Given the description of an element on the screen output the (x, y) to click on. 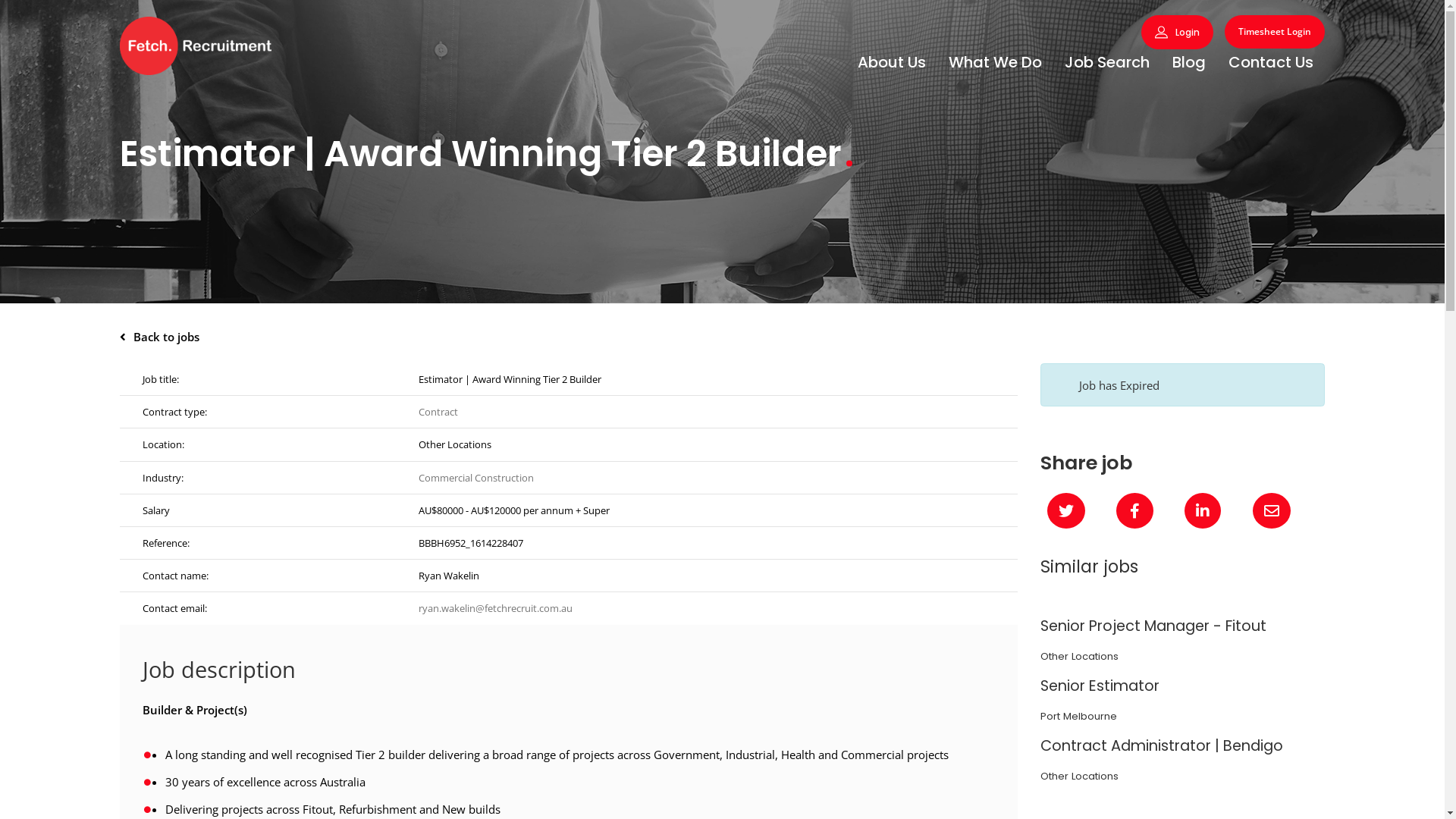
ryan.wakelin@fetchrecruit.com.au Element type: text (495, 608)
Senior Estimator
Port Melbourne Element type: text (1182, 700)
Back to jobs Element type: text (721, 337)
Blog Element type: text (1189, 62)
Job Search Element type: text (1107, 62)
Senior Project Manager - Fitout
Other Locations Element type: text (1182, 640)
Login Element type: text (1177, 32)
Timesheet Login Element type: text (1274, 31)
Contact Us Element type: text (1270, 62)
Commercial Construction Element type: text (475, 477)
Fetch Recruitment Element type: text (195, 45)
Contract Administrator | Bendigo
Other Locations Element type: text (1182, 760)
About Us Element type: text (891, 62)
What We Do Element type: text (995, 62)
Contract Element type: text (438, 411)
